Given the description of an element on the screen output the (x, y) to click on. 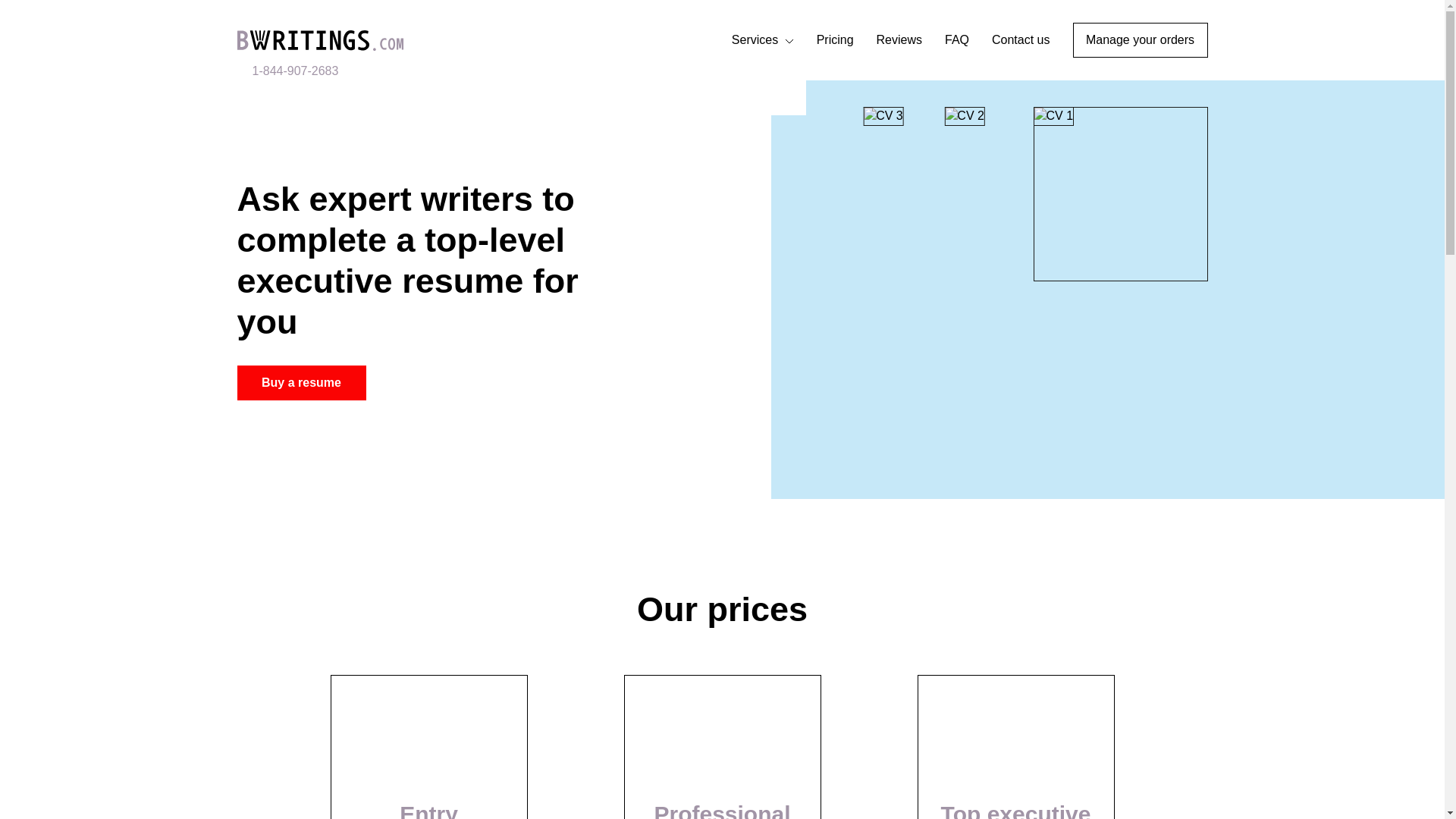
Contact us (1020, 39)
CV 3 (883, 116)
FAQ (956, 39)
Pricing (834, 39)
CV 2 (964, 116)
CV 1 (883, 97)
1-844-907-2683 (286, 71)
Reviews (898, 39)
CV 1 (1053, 116)
CV 2 (1119, 194)
